Given the description of an element on the screen output the (x, y) to click on. 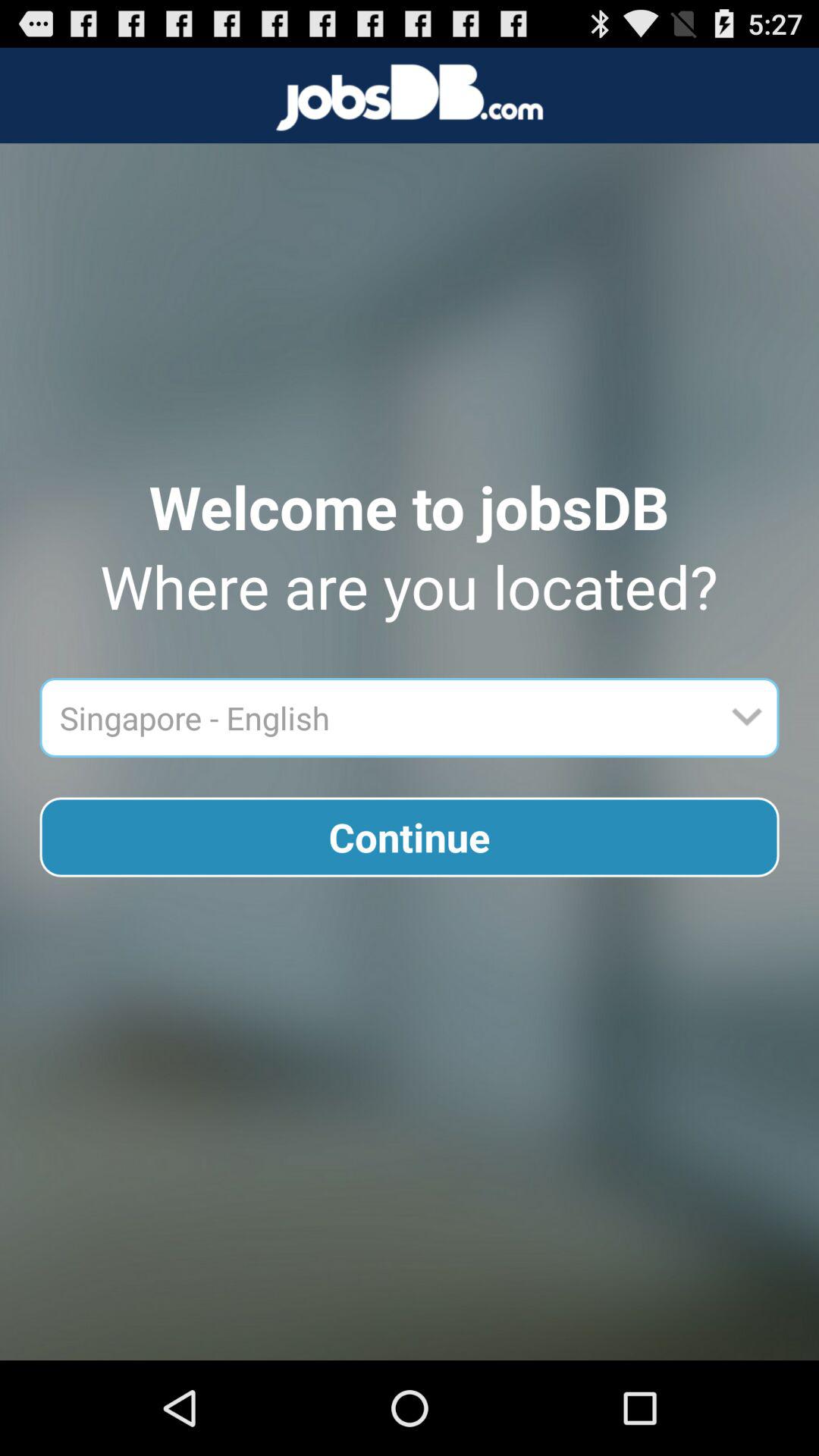
jump until continue (409, 837)
